Given the description of an element on the screen output the (x, y) to click on. 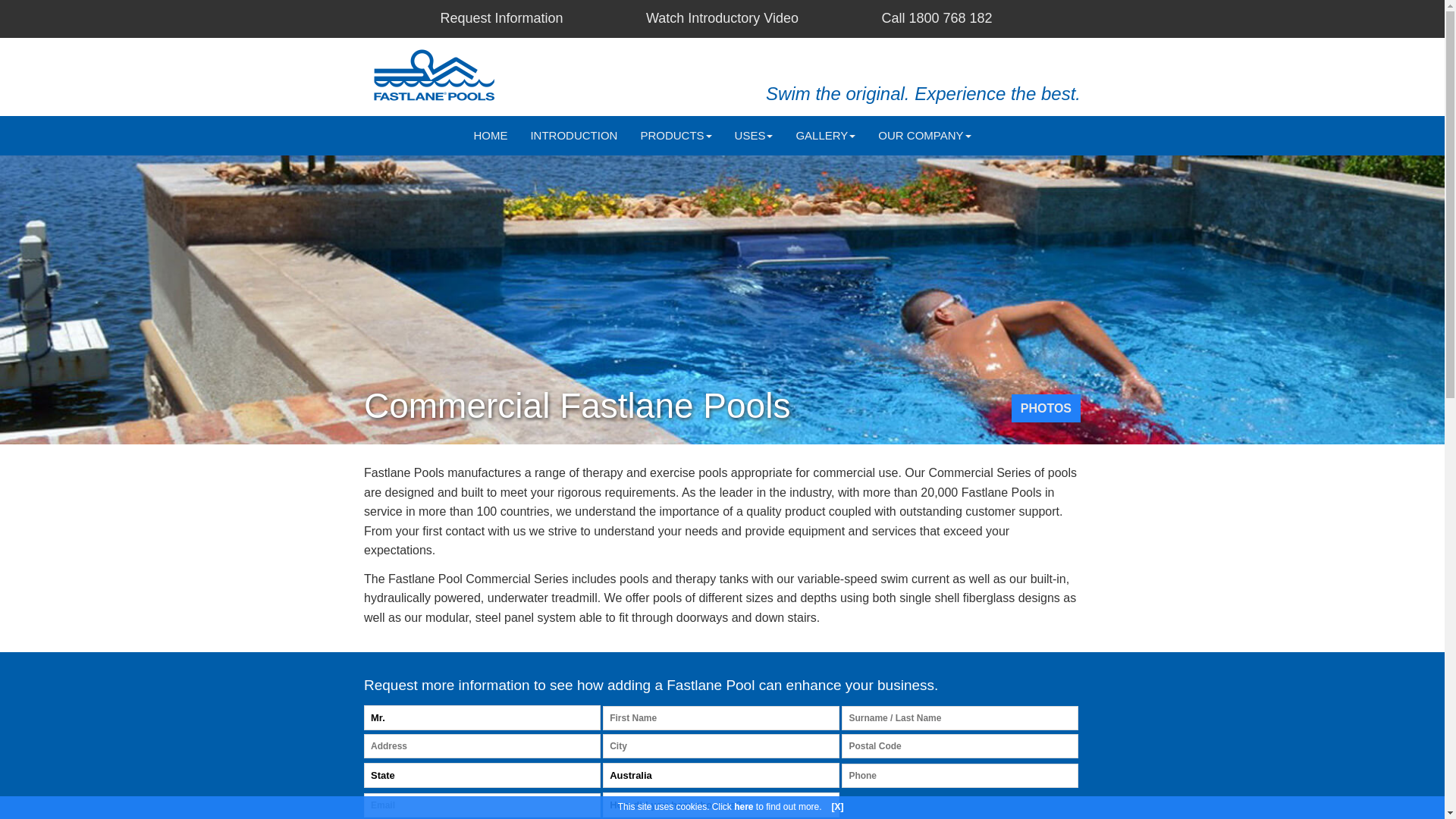
Call 1800 768 182 Element type: text (936, 17)
GALLERY Element type: text (825, 135)
PHOTOS Element type: text (1045, 408)
Request Information Element type: text (500, 17)
HOME Element type: text (489, 135)
here Element type: text (743, 806)
OUR COMPANY Element type: text (924, 135)
PRODUCTS Element type: text (675, 135)
Watch Introductory Video Element type: text (722, 17)
[X] Element type: text (837, 806)
INTRODUCTION Element type: text (573, 135)
USES Element type: text (753, 135)
